Given the description of an element on the screen output the (x, y) to click on. 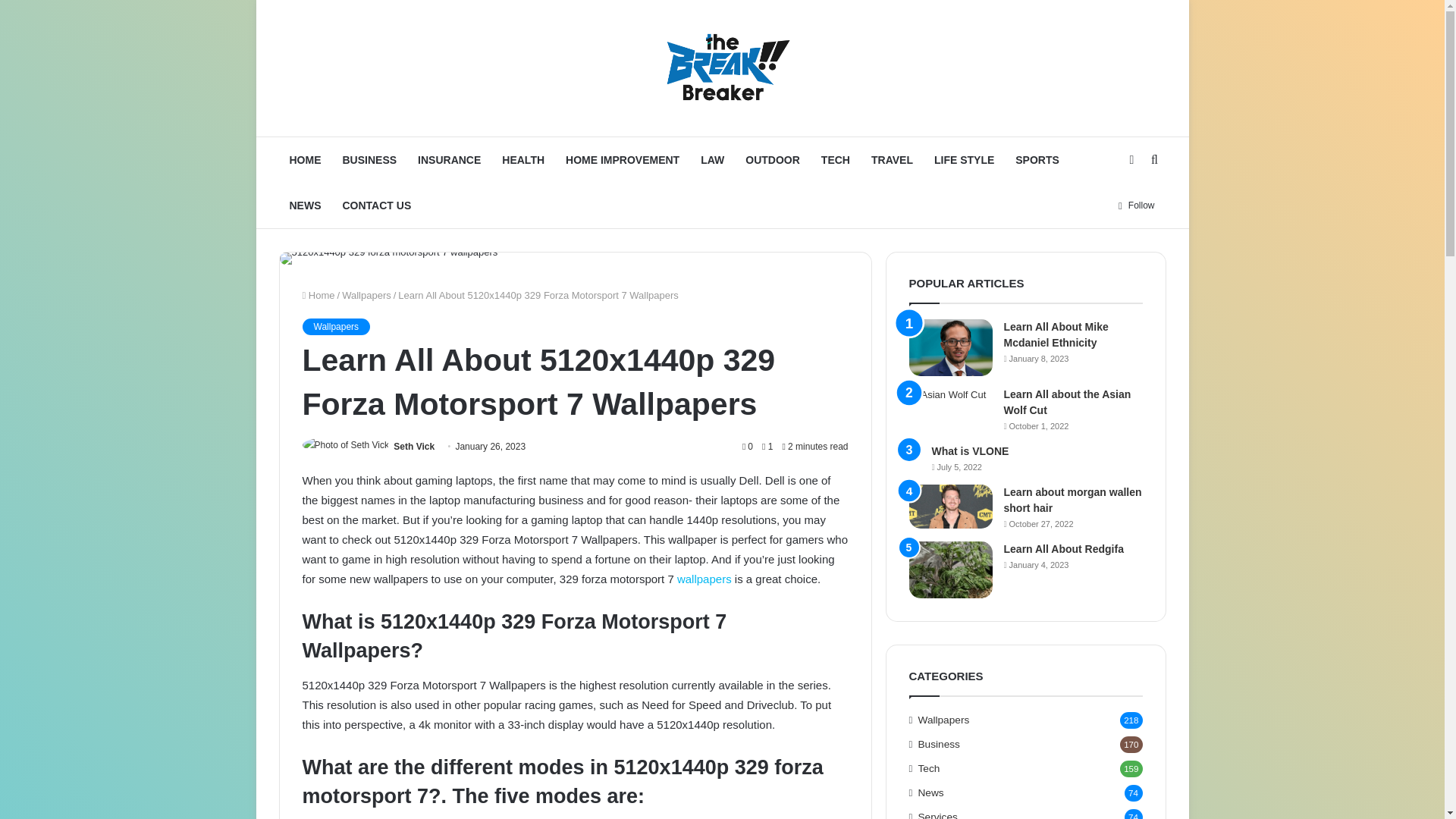
HOME (305, 159)
CONTACT US (376, 205)
Seth Vick (413, 446)
wallpapers (704, 578)
INSURANCE (449, 159)
HOME IMPROVEMENT (622, 159)
LAW (712, 159)
OUTDOOR (772, 159)
The Break Breaker (721, 68)
TRAVEL (891, 159)
NEWS (305, 205)
TECH (835, 159)
HEALTH (523, 159)
Follow (1136, 205)
BUSINESS (369, 159)
